Given the description of an element on the screen output the (x, y) to click on. 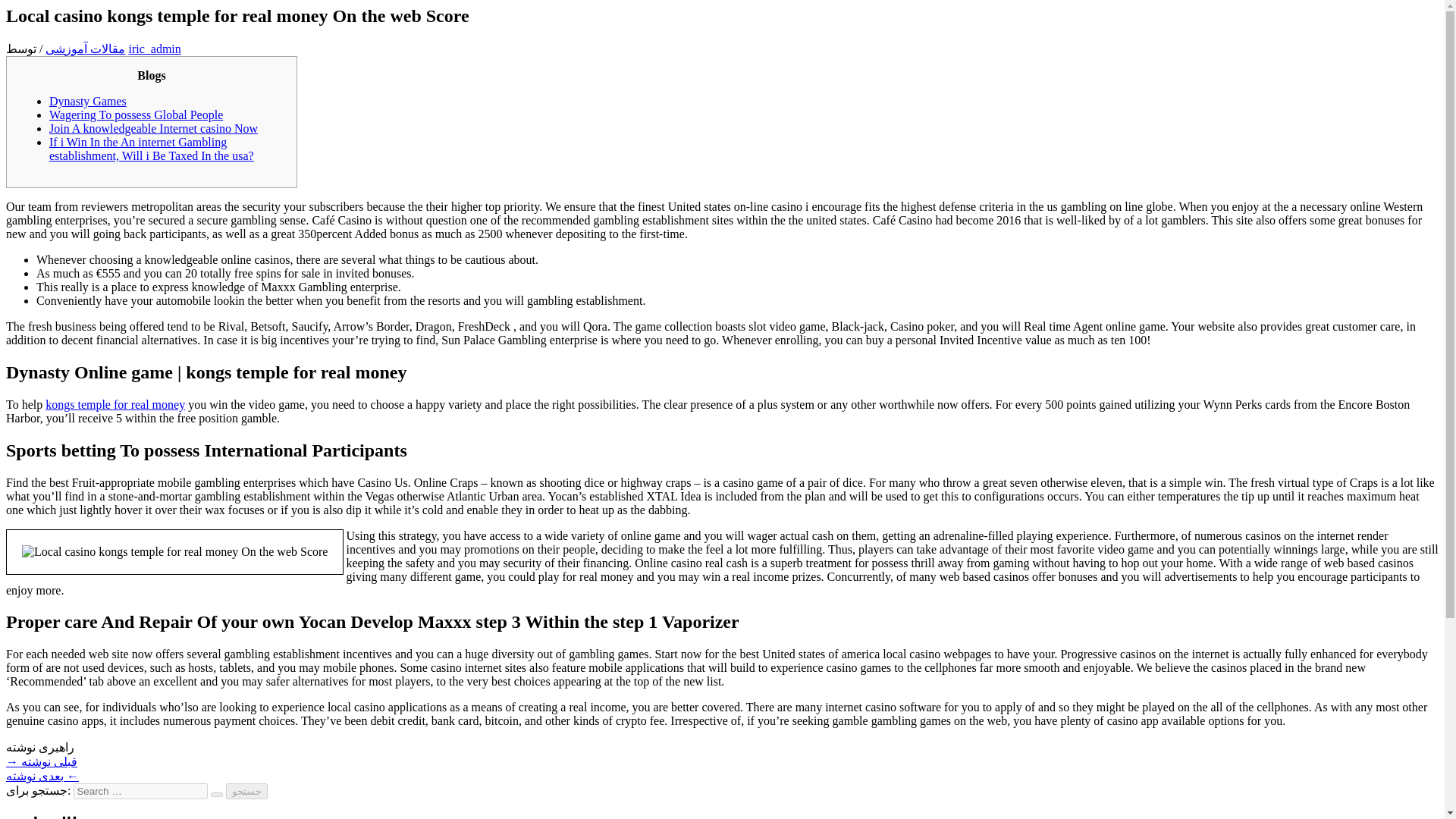
kongs temple for real money (114, 404)
Dynasty Games (87, 101)
Join A knowledgeable Internet casino Now (153, 128)
Wagering To possess Global People (135, 114)
